Given the description of an element on the screen output the (x, y) to click on. 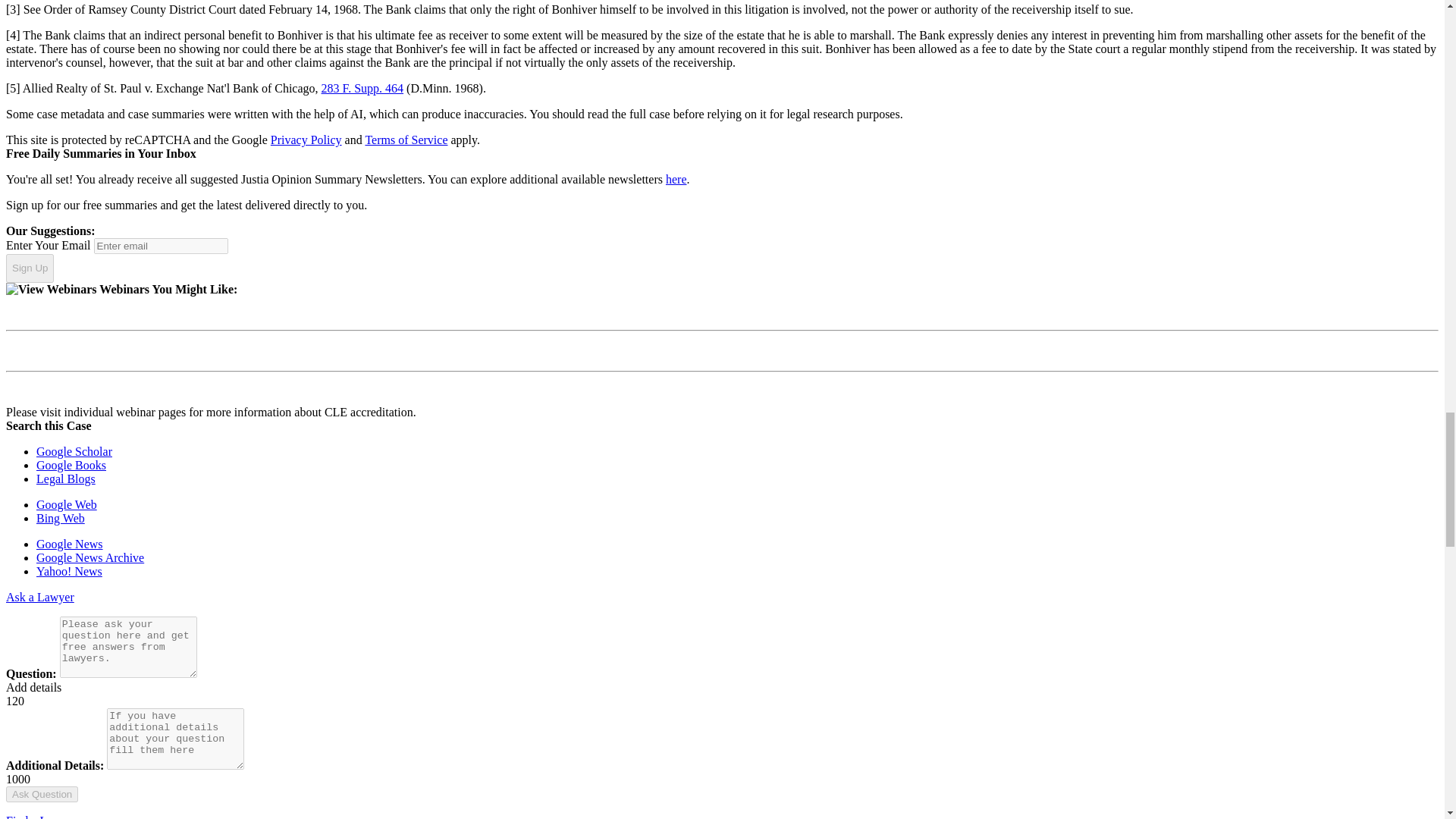
Sign Up (29, 267)
Law - Bing Web (60, 517)
Law - Google Books (71, 464)
Law - Google Scholar (74, 451)
Law - Google News Archive (90, 557)
Law - Legal Blogs (66, 478)
Law - Google Web (66, 504)
Enter email (161, 245)
Law - Yahoo! News (68, 571)
Law - Google News (69, 543)
